Given the description of an element on the screen output the (x, y) to click on. 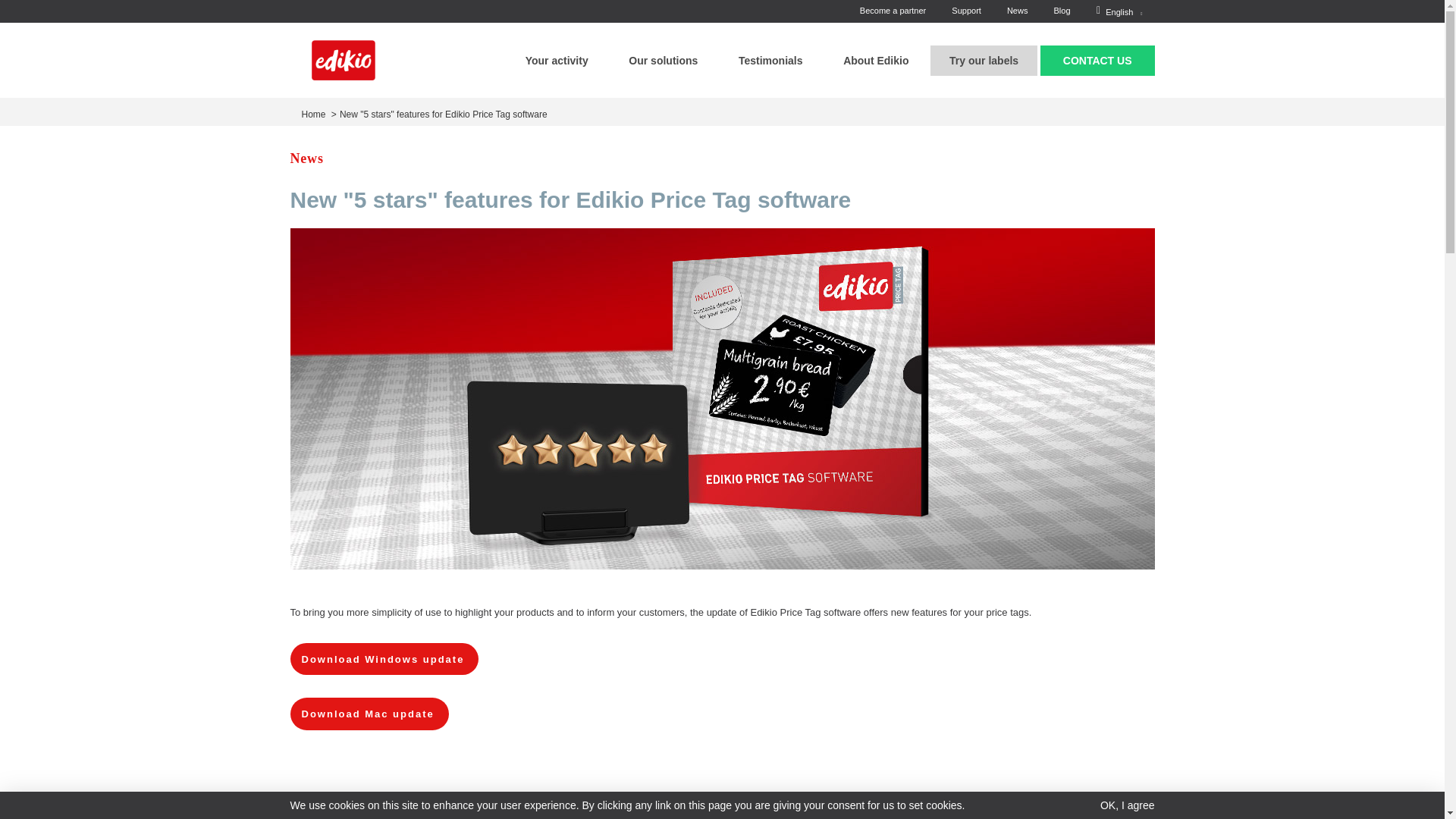
Our solutions (663, 60)
News (1016, 10)
Support (965, 10)
About Edikio (875, 60)
Your activity (556, 60)
Try our labels (983, 60)
CONTACT US (1097, 60)
Home (342, 60)
Our solutions (663, 60)
